Given the description of an element on the screen output the (x, y) to click on. 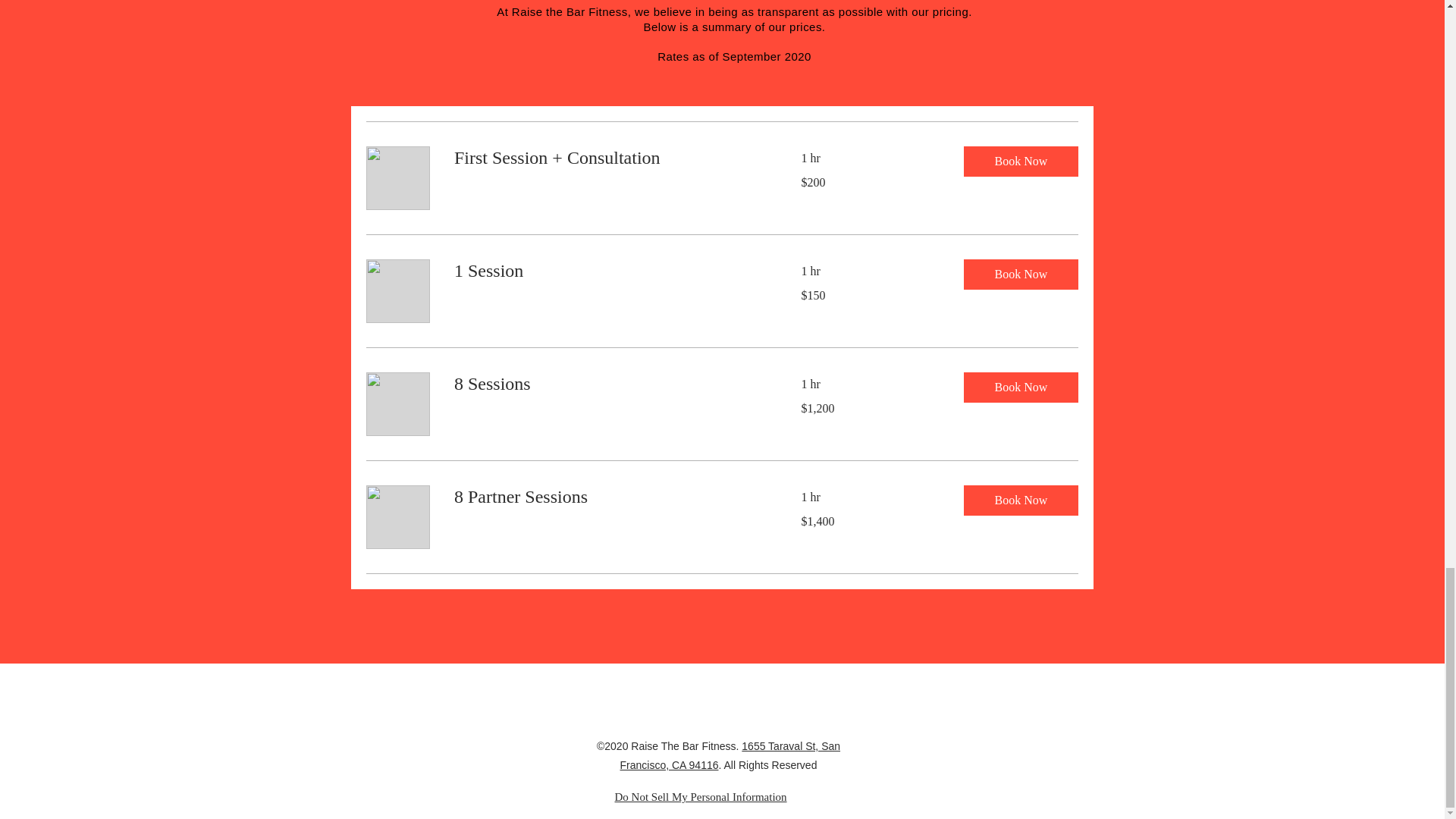
Book Now (1019, 500)
8 Sessions (608, 384)
Book Now (1019, 274)
1 Session (608, 271)
Book Now (1019, 161)
1655 Taraval St, San Francisco, CA 94116 (730, 755)
8 Partner Sessions (608, 497)
Do Not Sell My Personal Information (700, 797)
Book Now (1019, 387)
